Given the description of an element on the screen output the (x, y) to click on. 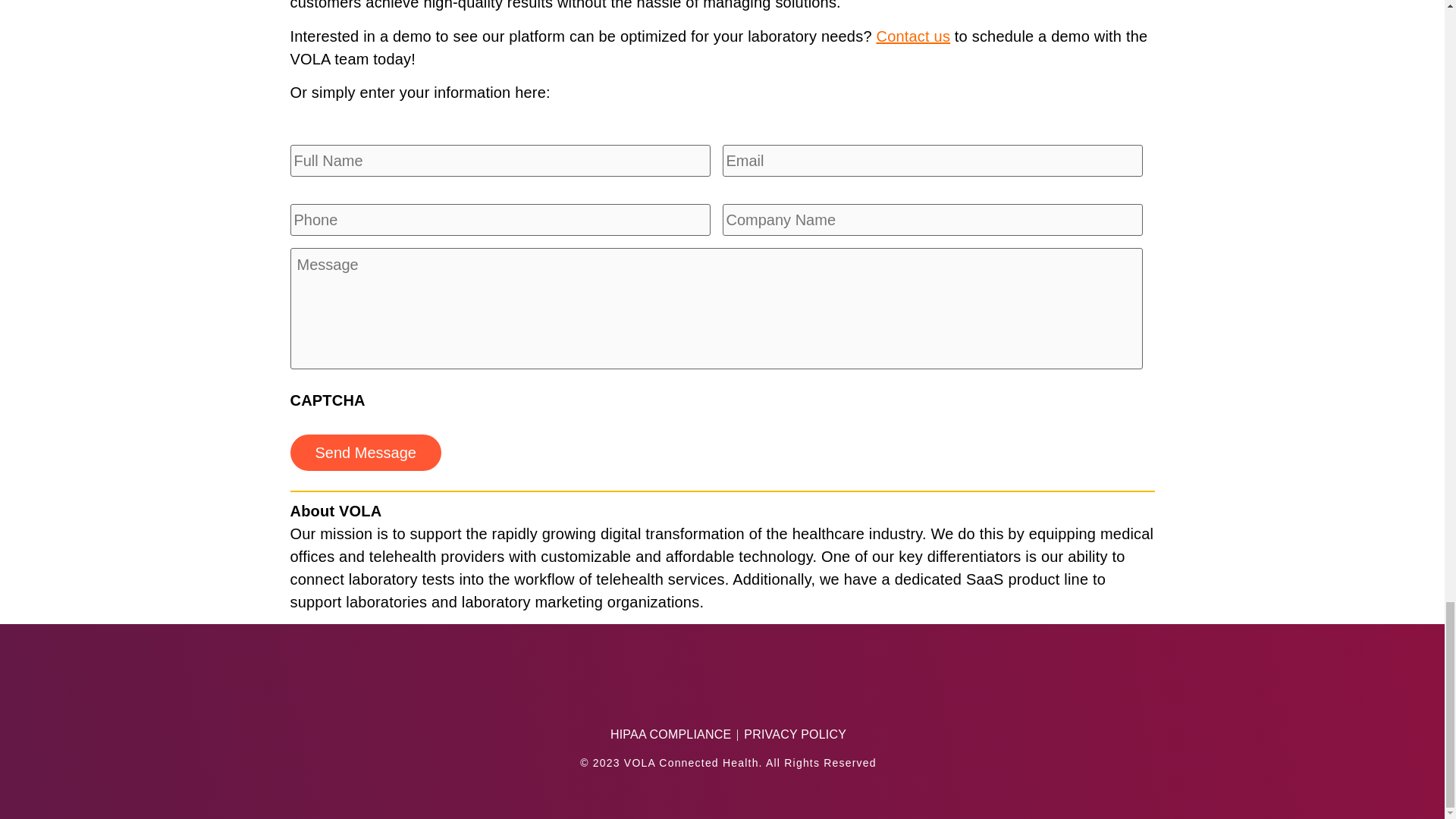
Contact us (913, 36)
HIPAA COMPLIANCE (670, 734)
PRIVACY POLICY (794, 734)
Send Message (365, 452)
Send Message (365, 452)
